Given the description of an element on the screen output the (x, y) to click on. 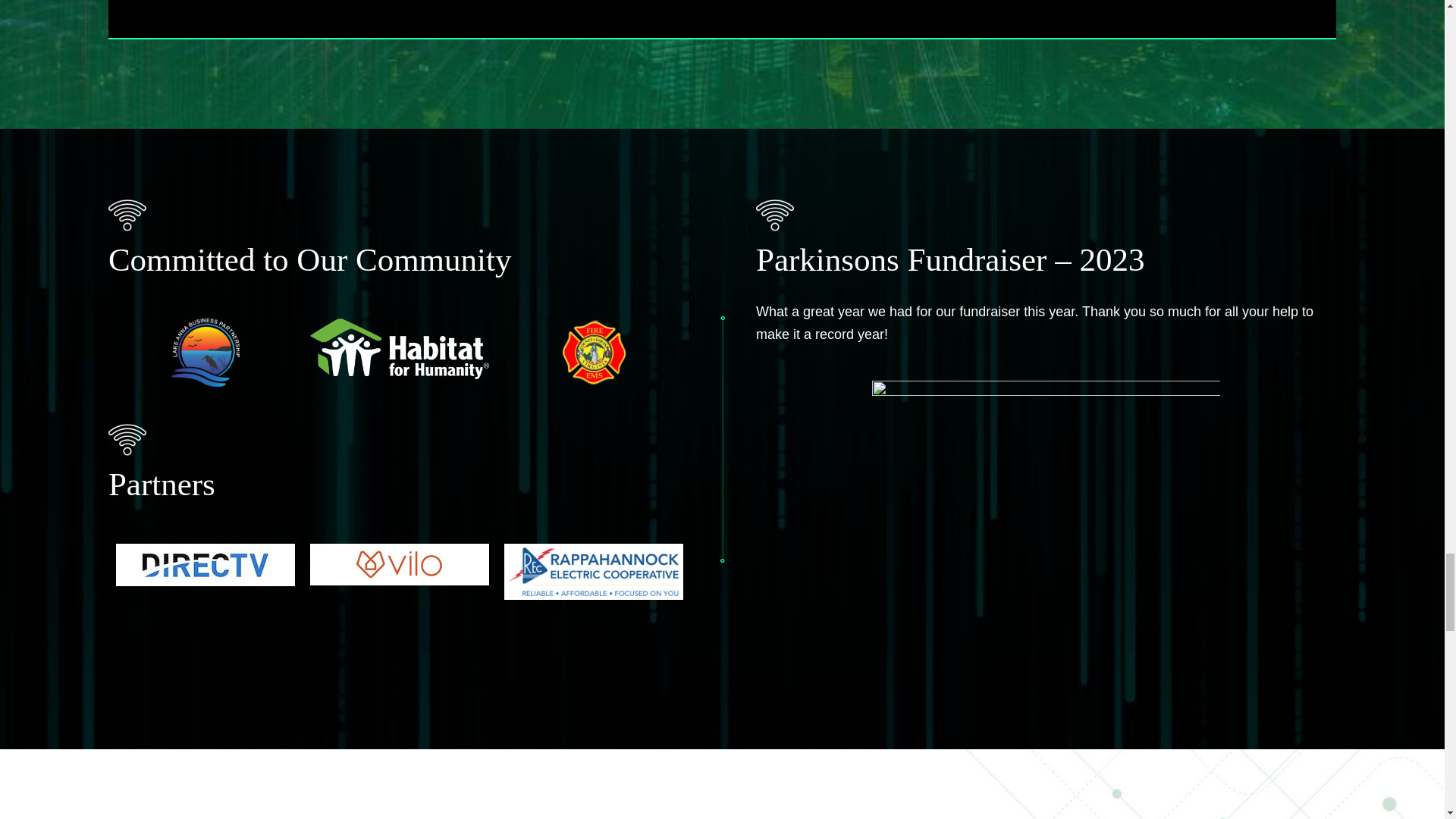
ico-wifi-white (127, 215)
ico-wifi-white (127, 439)
